Given the description of an element on the screen output the (x, y) to click on. 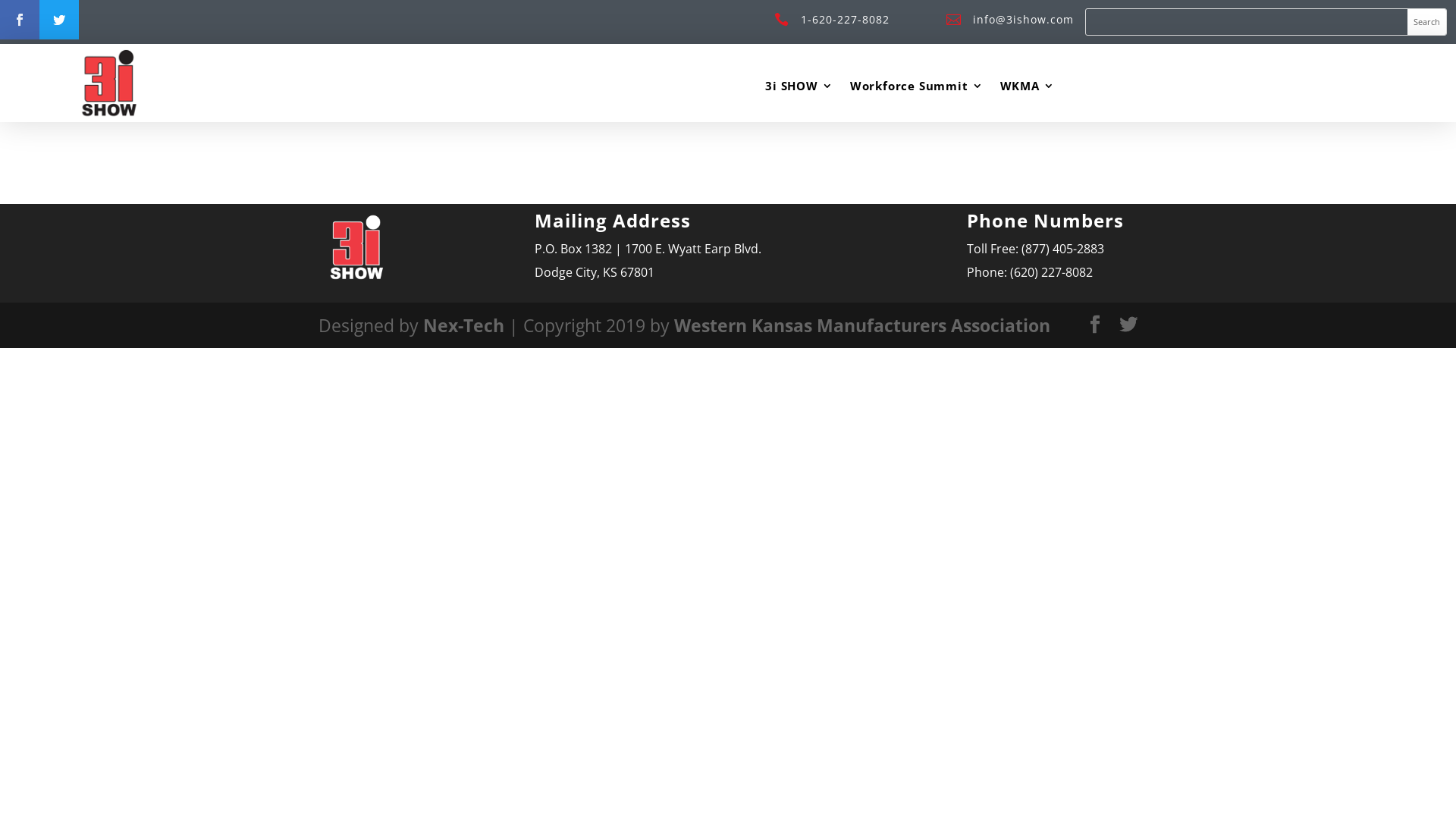
WKMA Element type: text (1027, 88)
info@3ishow.com Element type: text (1022, 19)
Search Element type: text (1426, 21)
Follow on Twitter Element type: hover (58, 19)
3i SHOW Element type: text (799, 88)
Follow on Facebook Element type: hover (19, 19)
Workforce Summit Element type: text (916, 88)
